Given the description of an element on the screen output the (x, y) to click on. 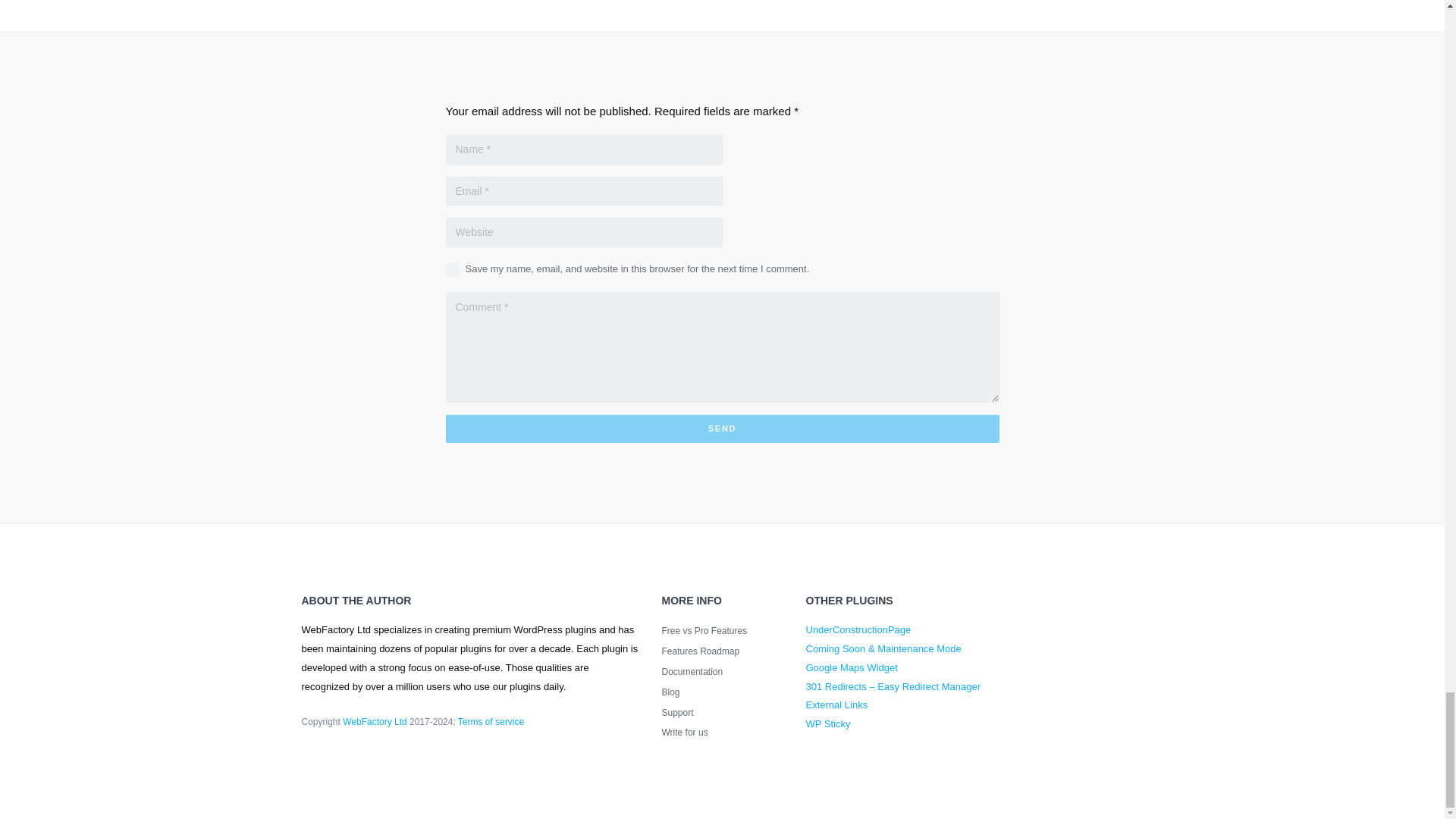
WP Sticky (827, 723)
Features Roadmap (722, 651)
Send (721, 428)
External Links (836, 704)
Documentation (722, 671)
UnderConstructionPage (858, 629)
Write for us (722, 732)
WebFactory Ltd (374, 721)
Support (722, 712)
Terms of service (491, 721)
